Given the description of an element on the screen output the (x, y) to click on. 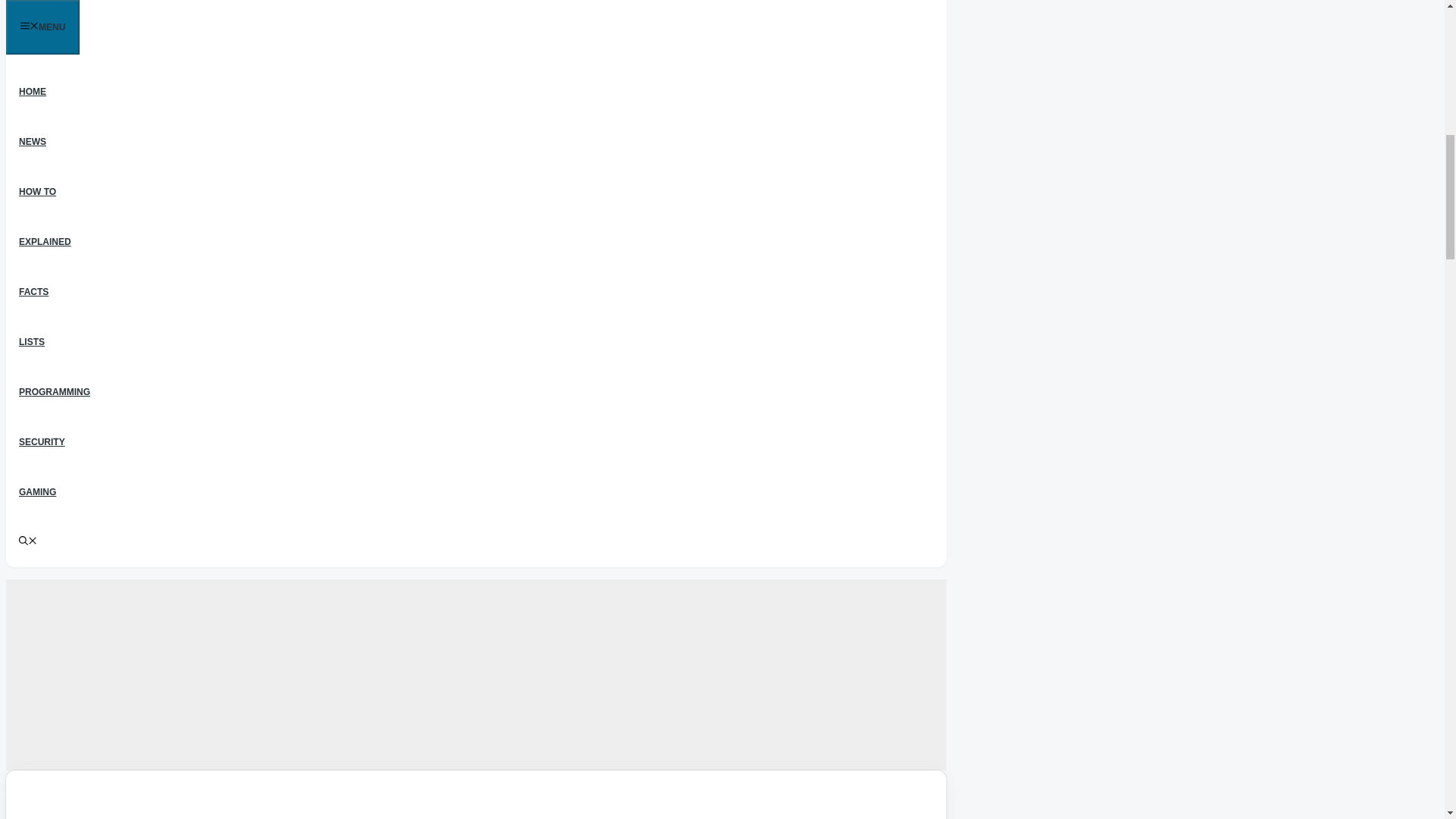
HOME (32, 91)
HOW TO (36, 191)
SECURITY (41, 441)
GAMING (36, 491)
PROGRAMMING (54, 391)
MENU (42, 27)
NEWS (32, 141)
Technology (32, 141)
Scroll back to top (1406, 720)
Top Lists (31, 341)
